Given the description of an element on the screen output the (x, y) to click on. 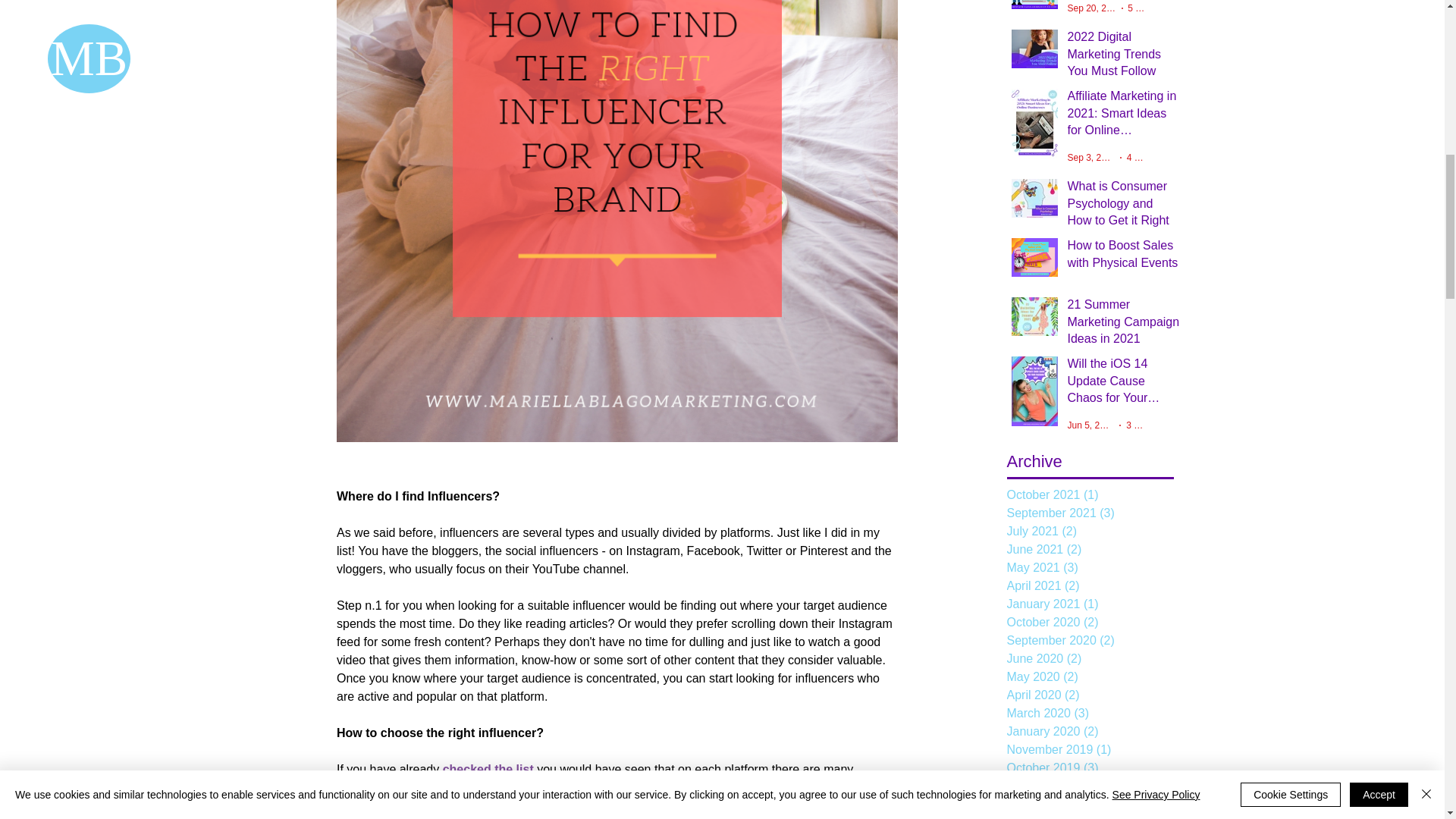
5 min (1138, 8)
Sep 20, 2021 (1094, 8)
checked the list (487, 768)
2022 Digital Marketing Trends You Must Follow (1123, 56)
Sep 3, 2021 (1091, 157)
5 min (1136, 290)
Jul 5, 2021 (1089, 290)
4 min (1137, 157)
